Given the description of an element on the screen output the (x, y) to click on. 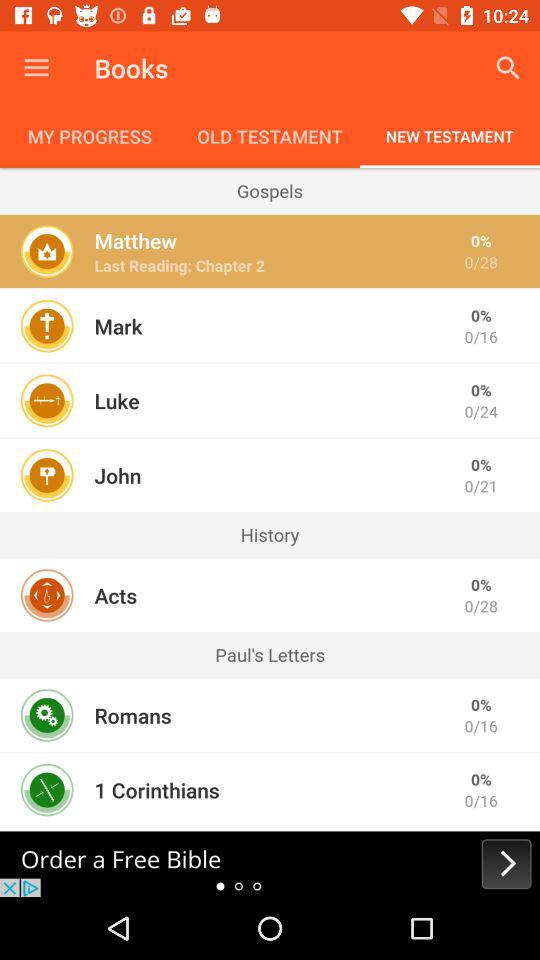
turn on item to the left of the 0/21 (117, 475)
